Given the description of an element on the screen output the (x, y) to click on. 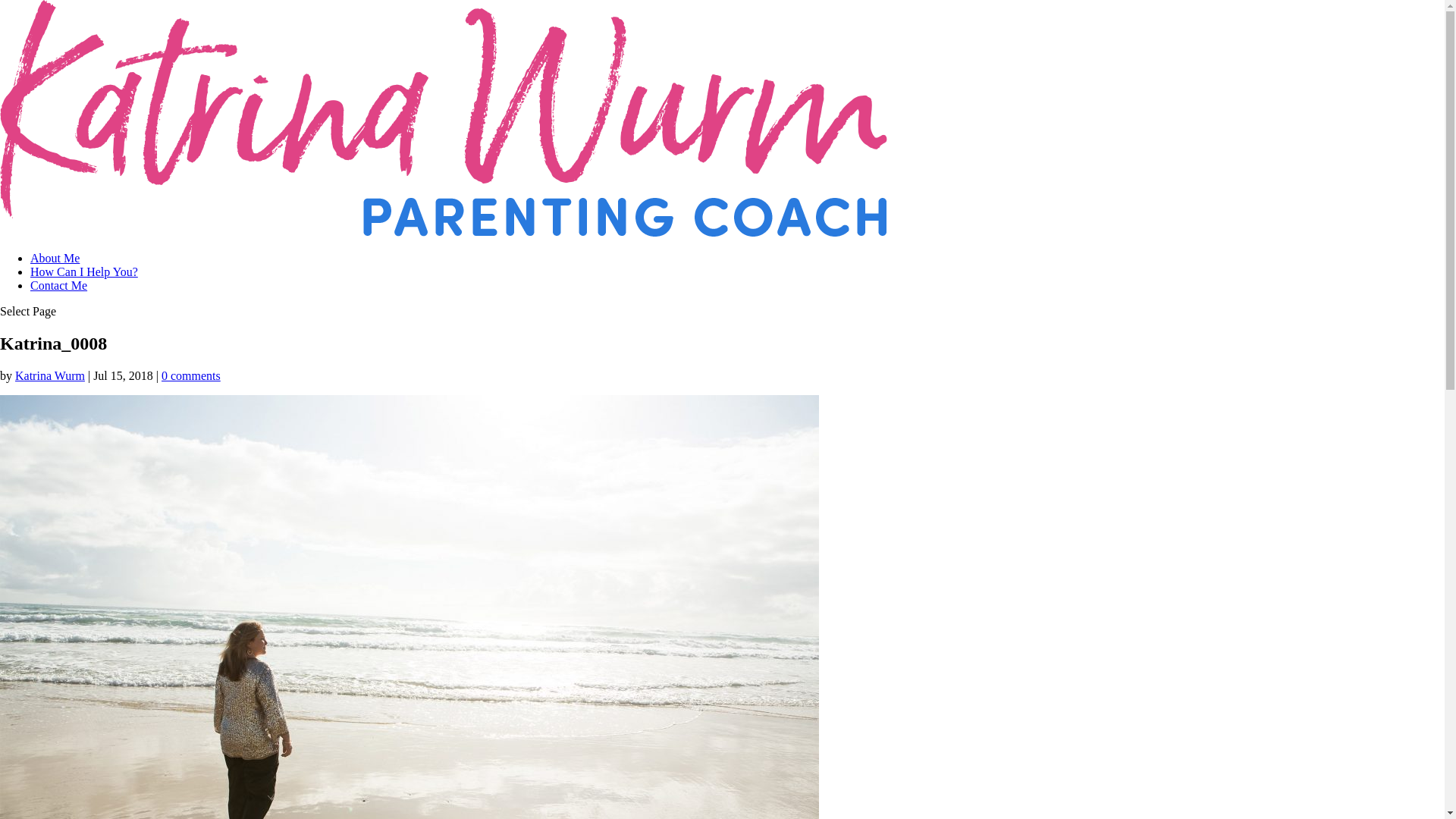
Contact Me Element type: text (58, 285)
Katrina Wurm Element type: text (49, 375)
0 comments Element type: text (190, 375)
How Can I Help You? Element type: text (84, 271)
About Me Element type: text (54, 257)
